Given the description of an element on the screen output the (x, y) to click on. 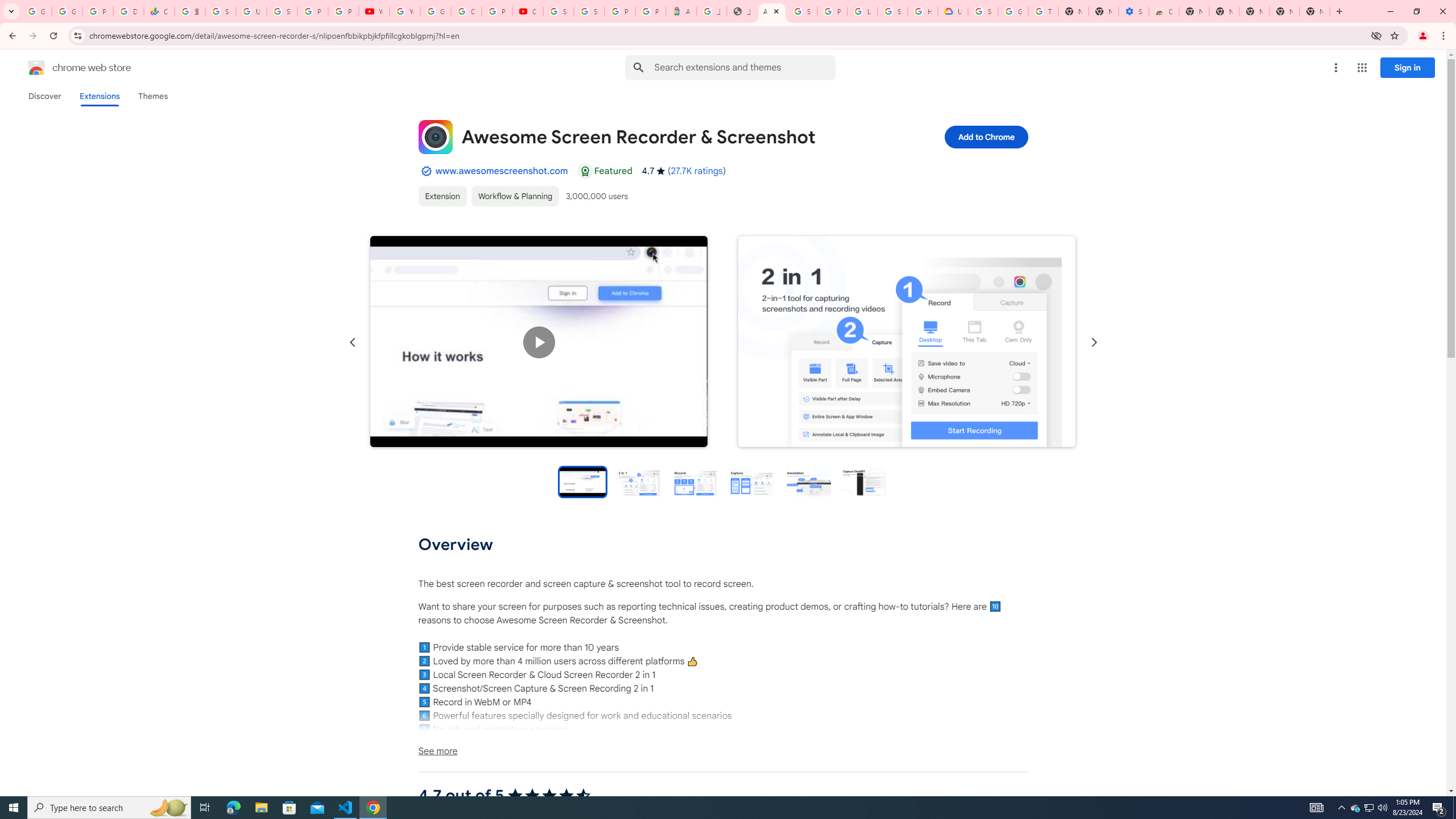
YouTube (373, 11)
Extension (442, 195)
Extensions (99, 95)
Discover (43, 95)
Sign in - Google Accounts (589, 11)
4.7 out of 5 stars (549, 795)
Chrome Web Store - Accessibility extensions (1163, 11)
